Given the description of an element on the screen output the (x, y) to click on. 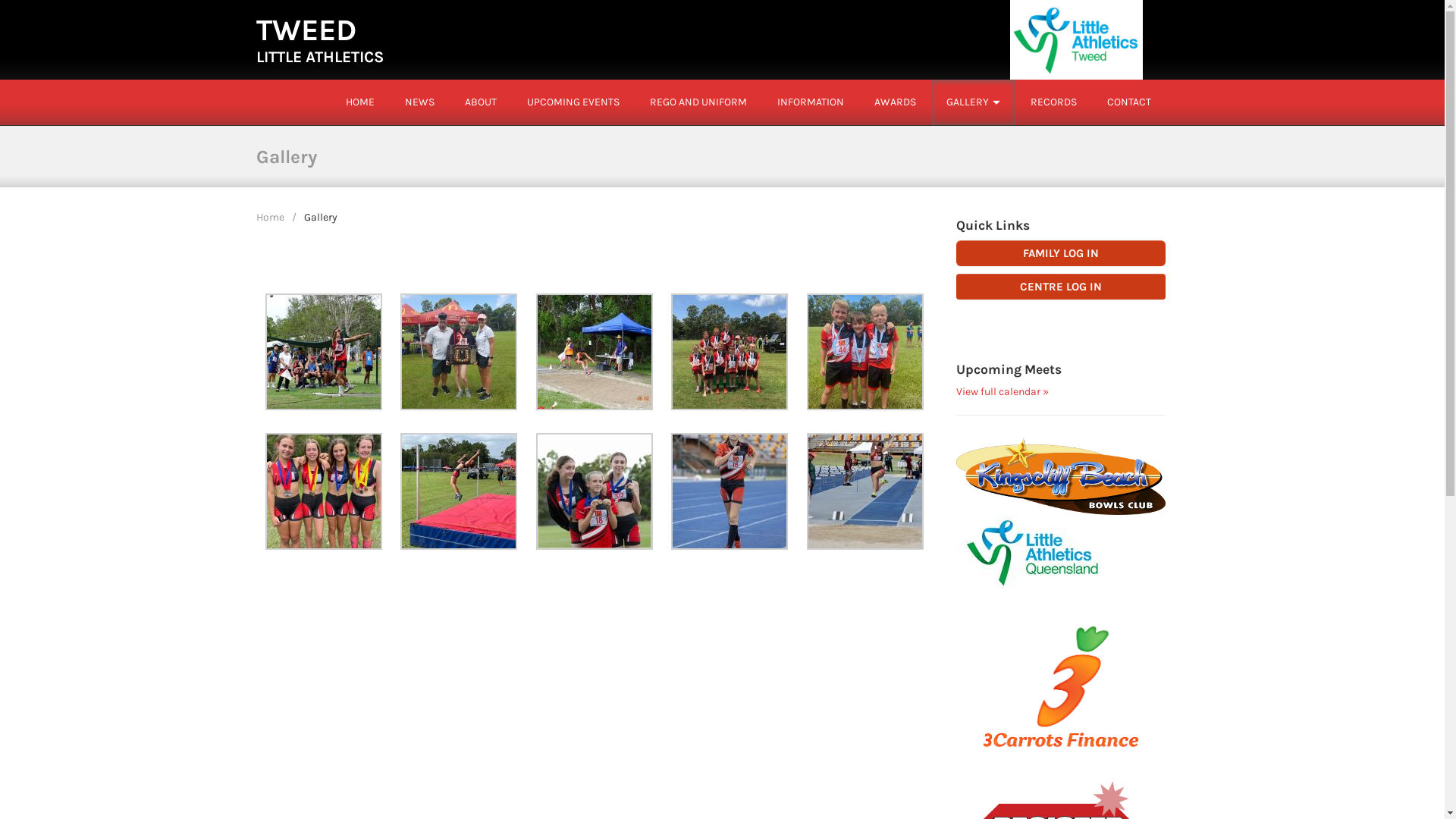
NEWS Element type: text (419, 101)
LITTLE ATHLETICS Element type: text (319, 56)
REGO AND UNIFORM Element type: text (697, 101)
AWARDS Element type: text (894, 101)
HOME Element type: text (359, 101)
INFORMATION Element type: text (809, 101)
GALLERY Element type: text (967, 101)
FAMILY LOG IN Element type: text (1061, 253)
ABOUT Element type: text (479, 101)
RECORDS Element type: text (1052, 101)
CONTACT Element type: text (1129, 101)
TWEED Element type: text (306, 29)
CENTRE LOG IN Element type: text (1061, 286)
UPCOMING EVENTS Element type: text (572, 101)
Home Element type: text (270, 216)
Tweed LAC Element type: hover (1076, 38)
